Given the description of an element on the screen output the (x, y) to click on. 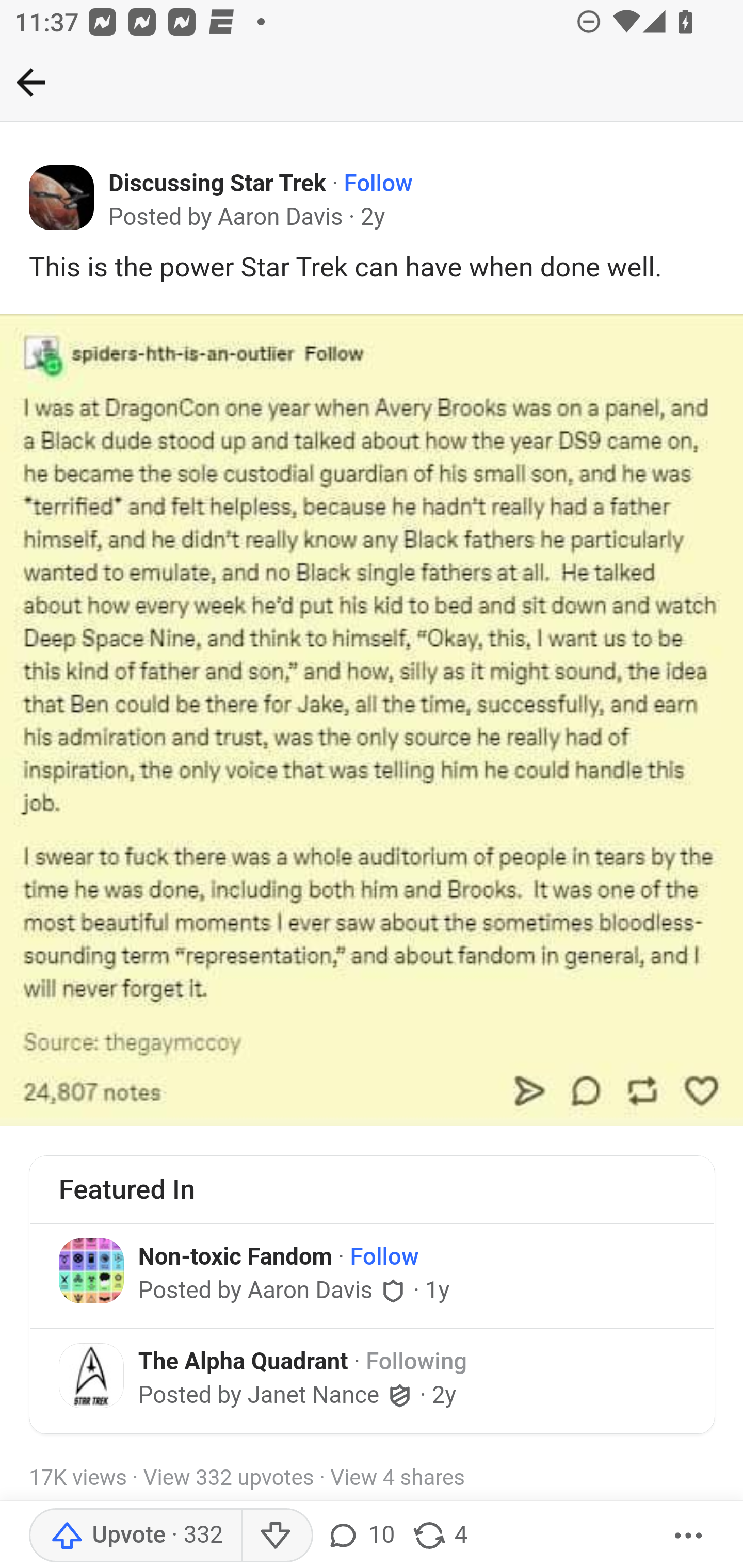
Back (30, 82)
Icon for Discussing Star Trek (61, 198)
Discussing Star Trek (217, 183)
Follow (378, 183)
Icon for Non-toxic Fandom (90, 1270)
Non-toxic Fandom (235, 1255)
Follow (384, 1256)
Icon for The Alpha Quadrant (90, 1375)
The Alpha Quadrant (242, 1360)
Upvote (135, 1535)
Downvote (277, 1535)
10 comments (363, 1535)
4 shares (439, 1535)
More (688, 1535)
